Given the description of an element on the screen output the (x, y) to click on. 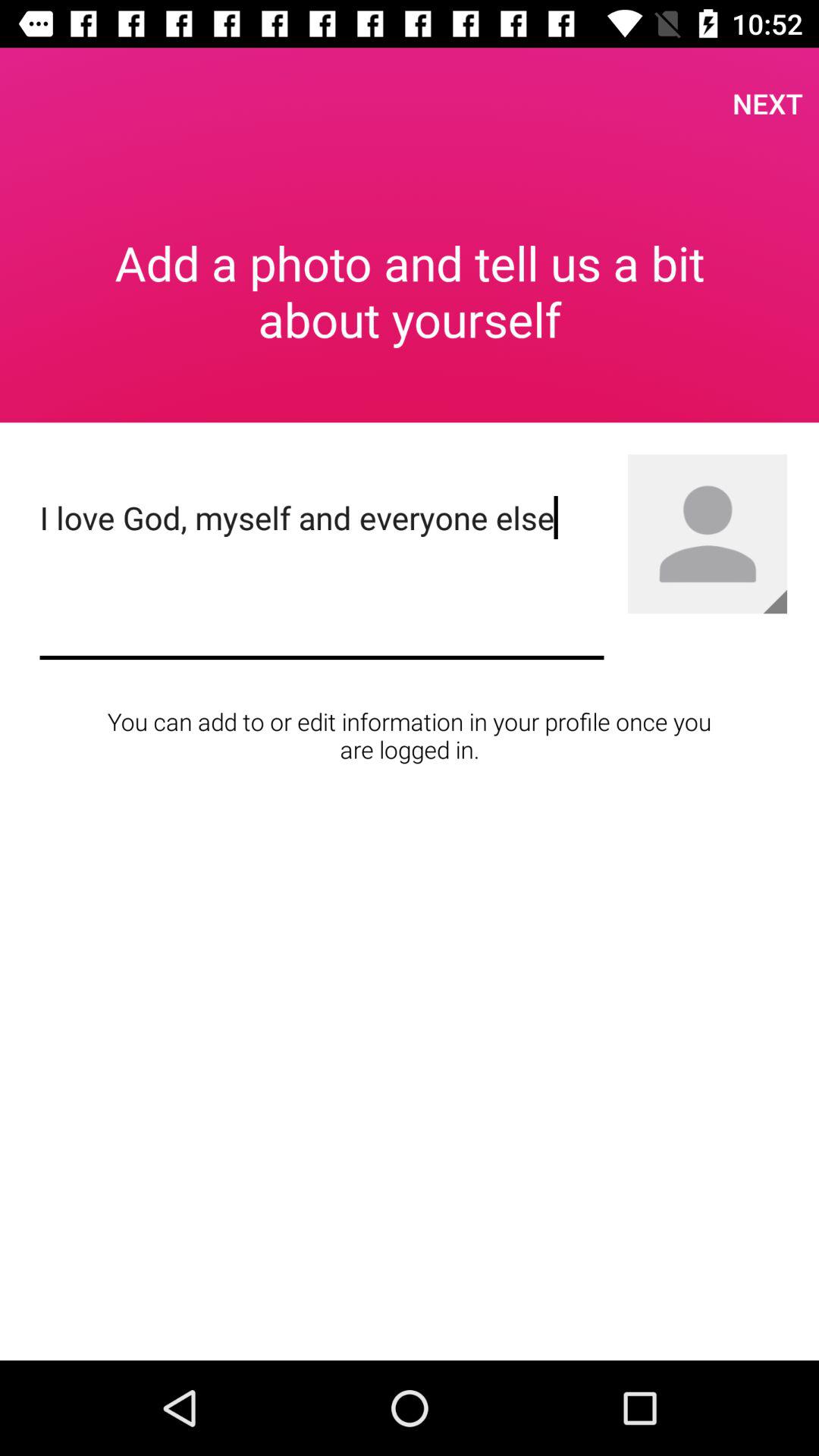
click the i love god item (321, 574)
